Given the description of an element on the screen output the (x, y) to click on. 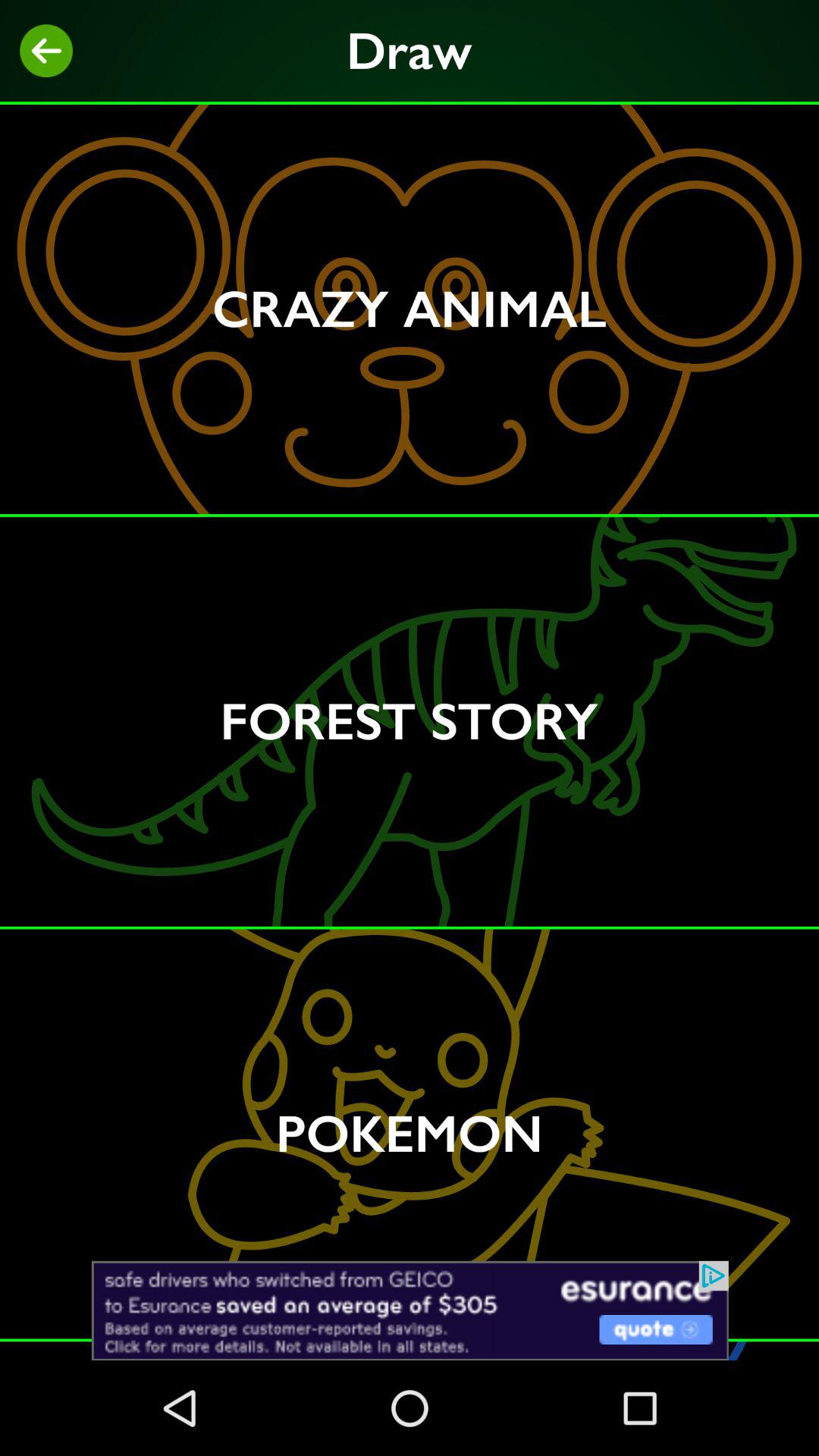
go to previous (46, 50)
